Given the description of an element on the screen output the (x, y) to click on. 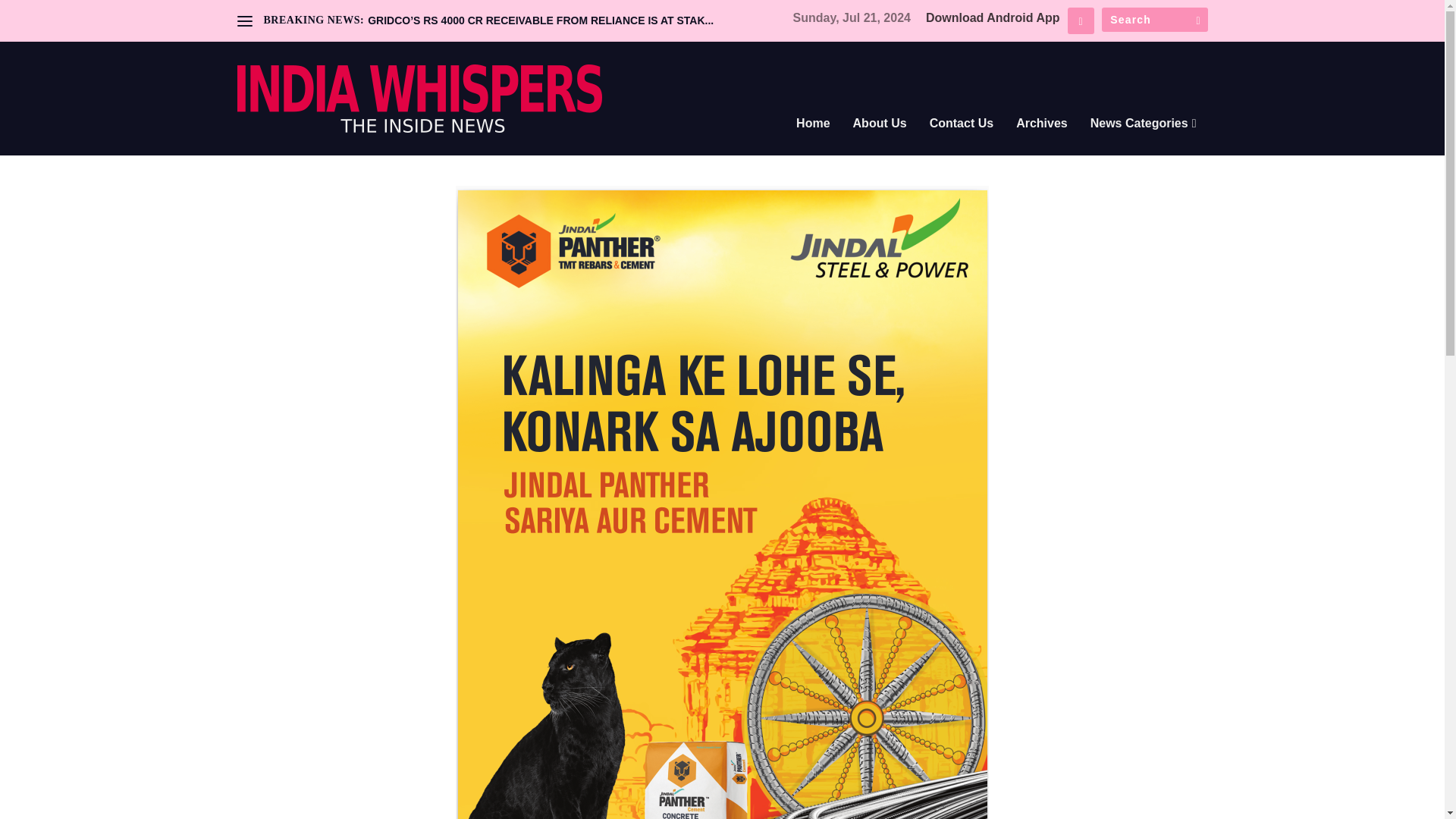
Archives (1041, 143)
Download Android App (992, 17)
Contact Us (961, 143)
About Us (880, 143)
News Categories (1143, 143)
Search for: (1153, 19)
